Given the description of an element on the screen output the (x, y) to click on. 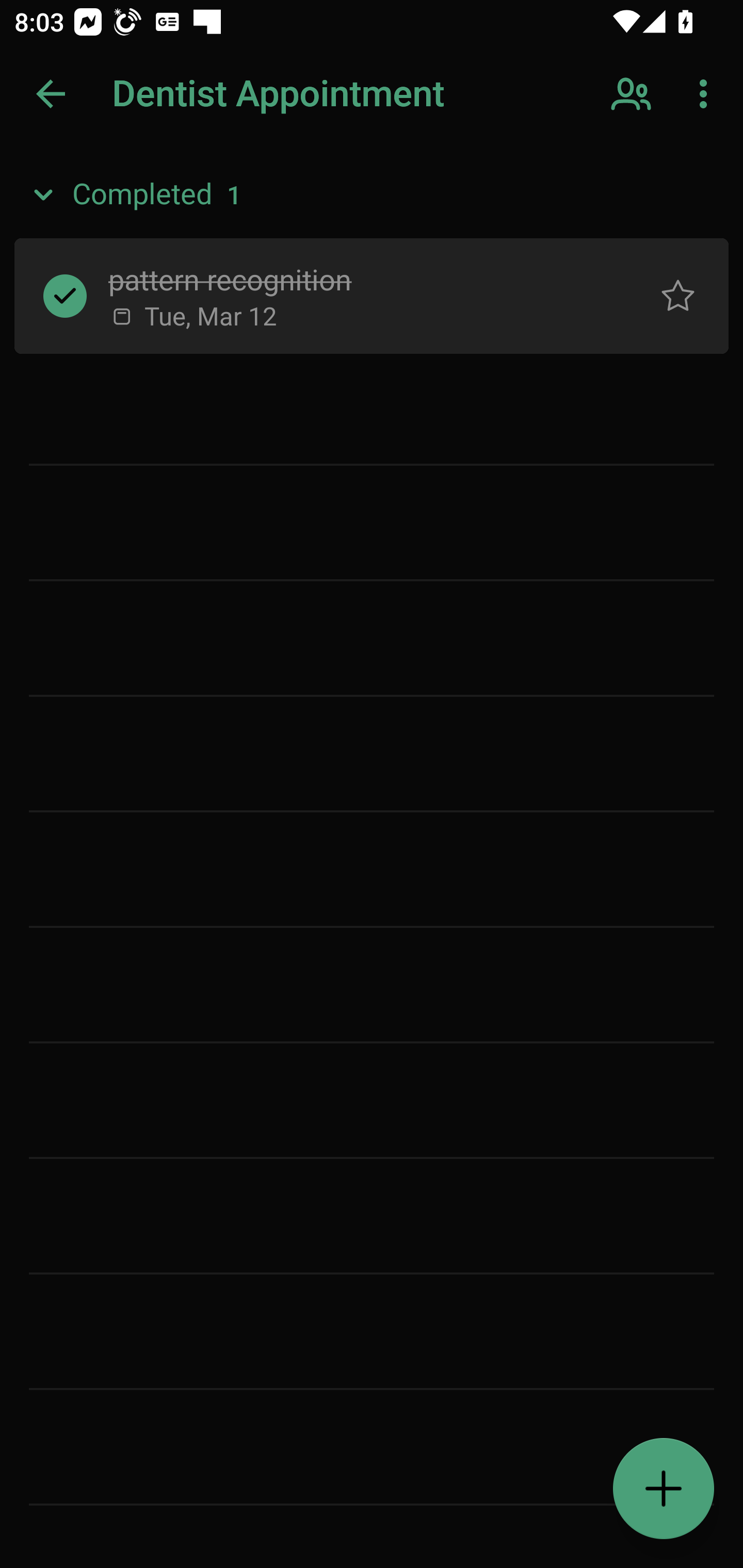
Back (50, 93)
Sharing options (632, 93)
More options (706, 93)
Completed, 1 item, Expanded Completed 1 (371, 195)
Completed task pattern recognition, Button (64, 295)
Normal task pattern recognition, Button (677, 295)
pattern recognition (356, 277)
Add a task (663, 1488)
